Given the description of an element on the screen output the (x, y) to click on. 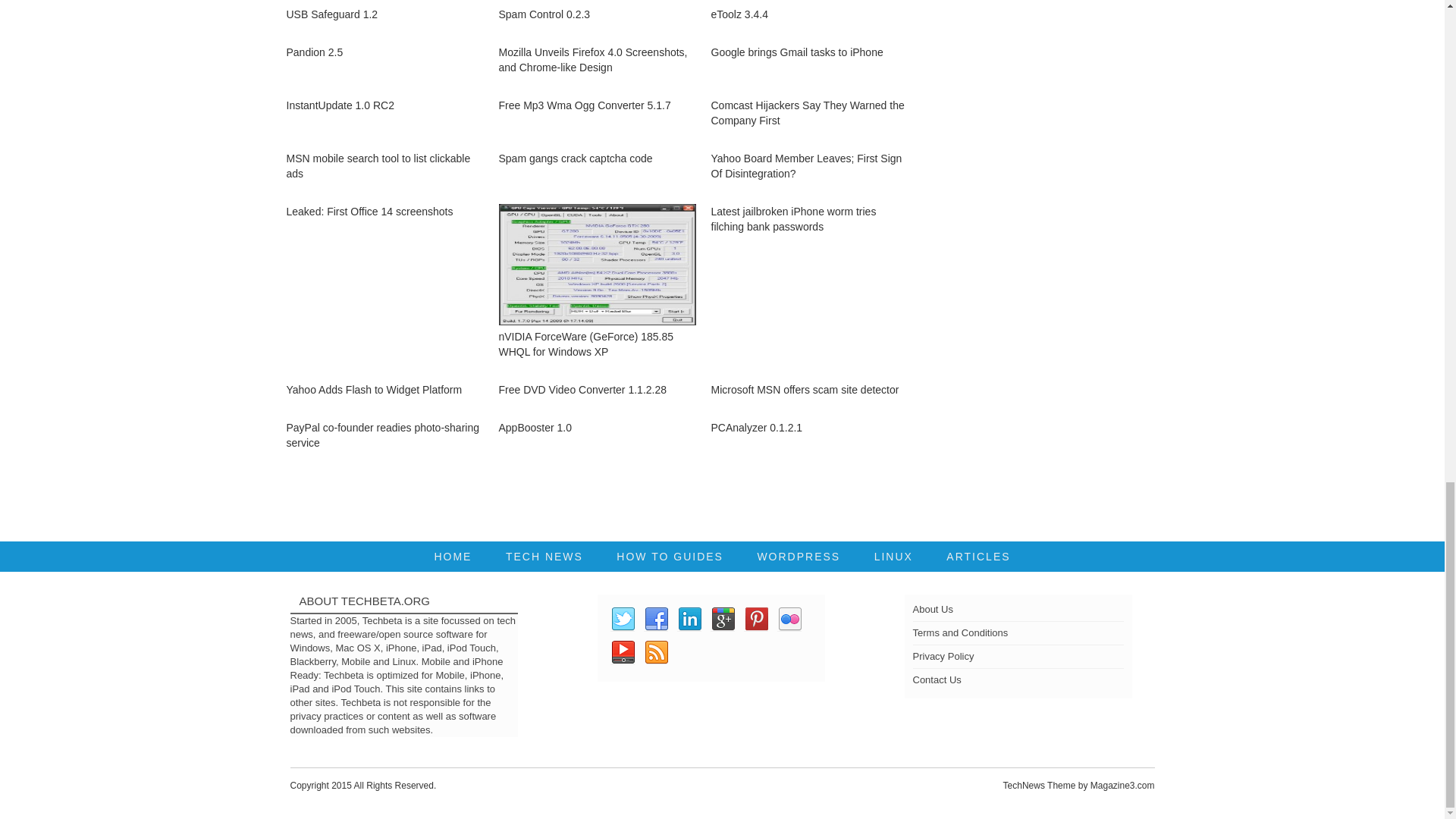
LinkedIn (688, 619)
Facebook (654, 619)
Google Plus (721, 619)
Twitter (621, 619)
